Given the description of an element on the screen output the (x, y) to click on. 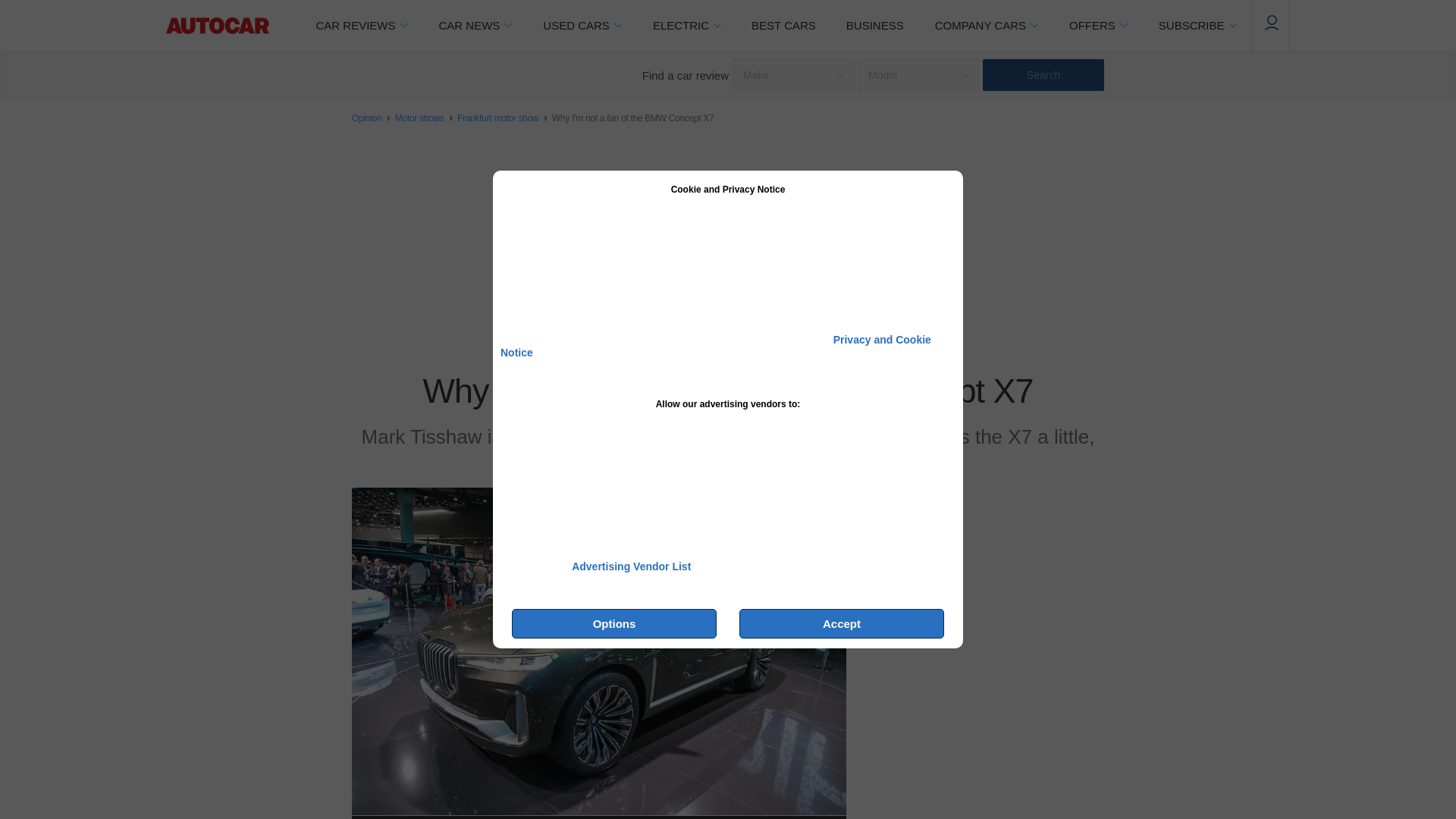
Autocar Electric (686, 26)
CAR REVIEWS (360, 26)
SUBSCRIBE (1197, 26)
USED CARS (582, 26)
Search (1042, 74)
Home (217, 25)
ELECTRIC (686, 26)
BUSINESS (874, 26)
OFFERS (1097, 26)
BEST CARS (783, 26)
